Given the description of an element on the screen output the (x, y) to click on. 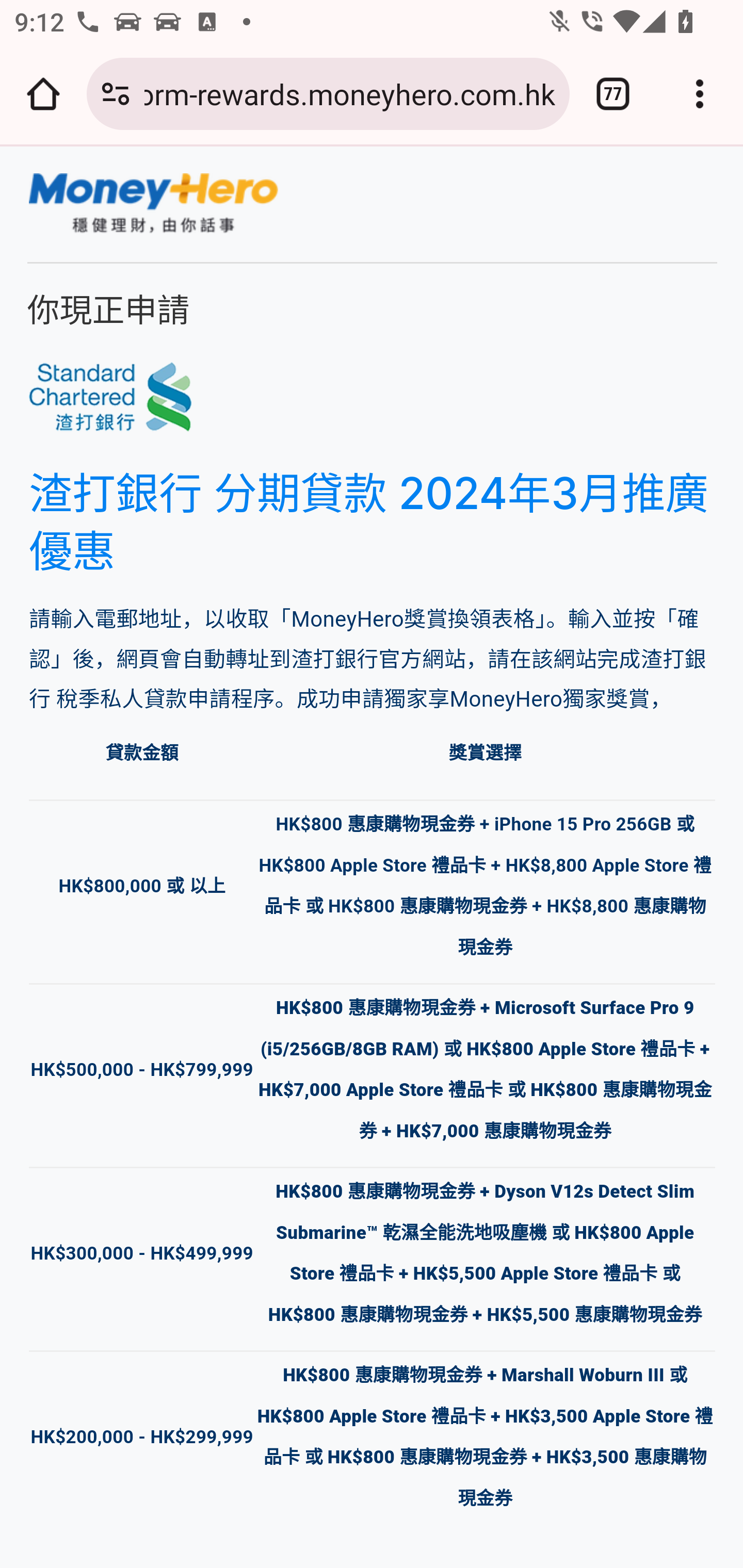
Open the home page (43, 93)
Connection is secure (115, 93)
Switch or close tabs (612, 93)
Customize and control Google Chrome (699, 93)
